Given the description of an element on the screen output the (x, y) to click on. 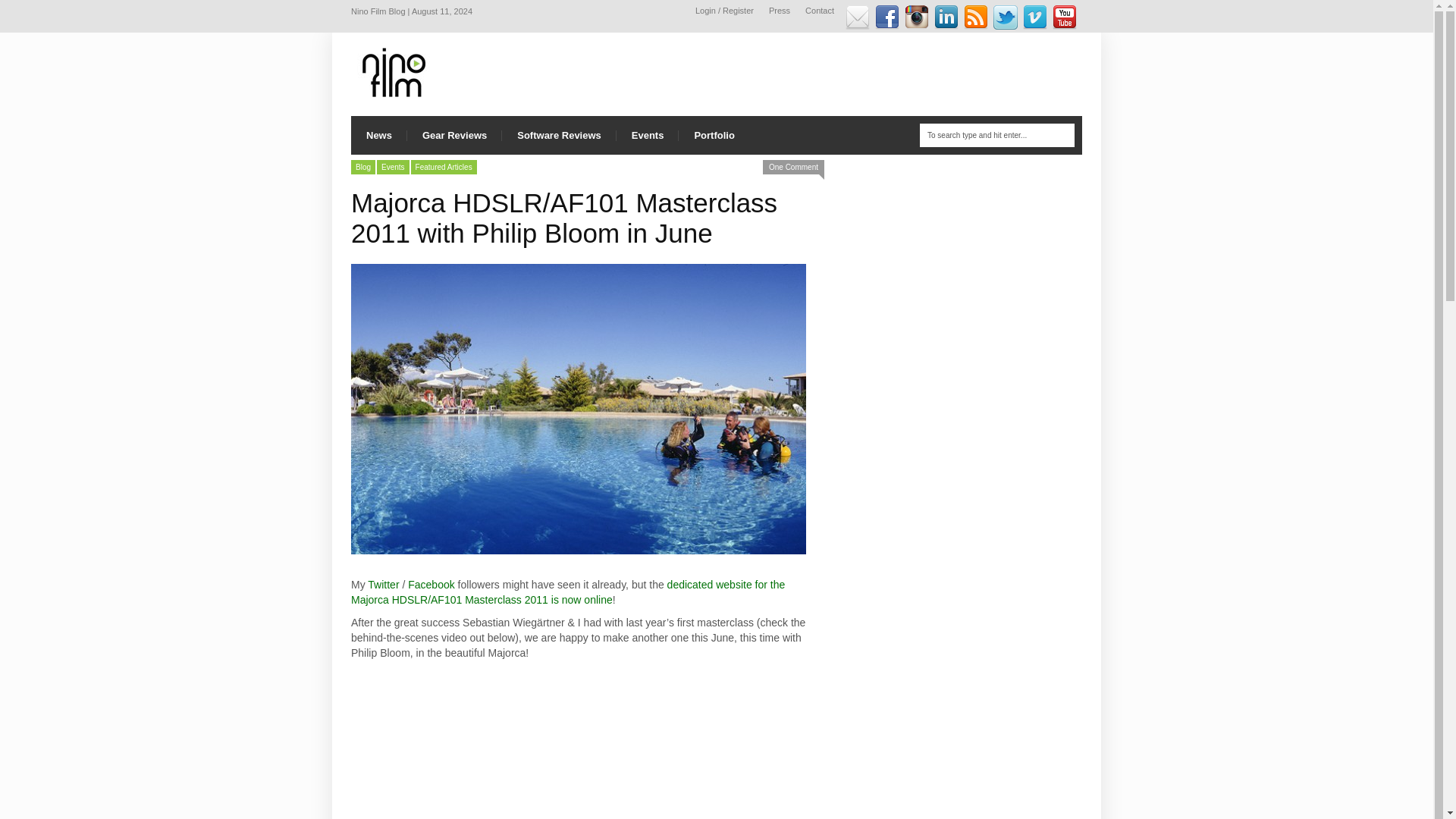
To search type and hit enter... (997, 135)
News (378, 135)
Press (779, 10)
Gear Reviews (454, 135)
Contact (819, 10)
